Given the description of an element on the screen output the (x, y) to click on. 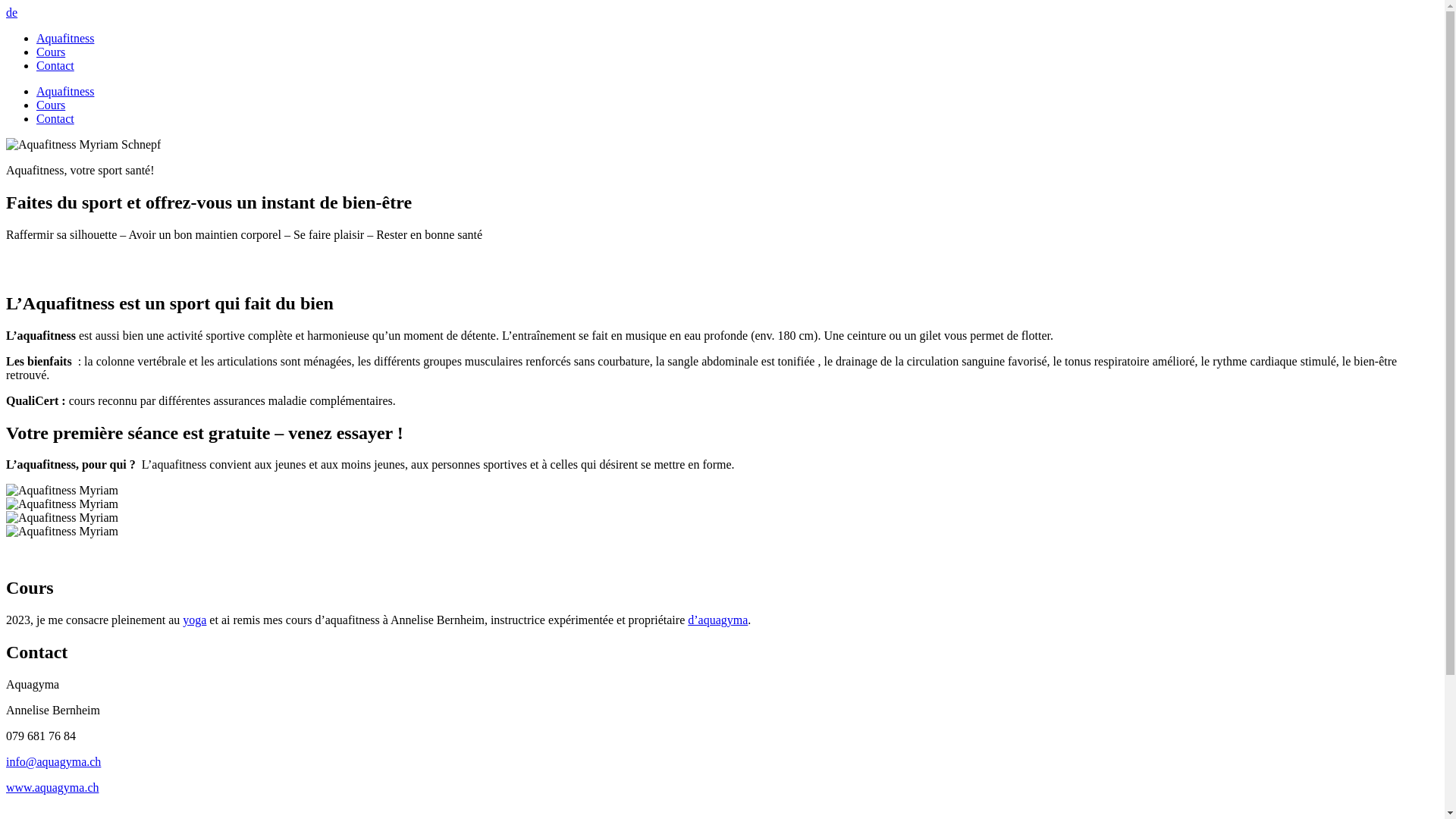
www.aquagyma.ch Element type: text (52, 787)
Contact Element type: text (55, 65)
Aquafitness Myriam Element type: hover (62, 504)
info@aquagyma.ch Element type: text (53, 761)
yoga Element type: text (194, 619)
Aquafitness Myriam Element type: hover (62, 531)
Aquafitness Element type: text (65, 37)
Aquafitness Element type: text (65, 90)
Aquafitness Myriam Element type: hover (62, 517)
Aquafitness Myriam Schnepf Element type: hover (83, 144)
Contact Element type: text (55, 118)
Aquafitness Myriam Element type: hover (62, 490)
Cours Element type: text (50, 51)
Cours Element type: text (50, 104)
de Element type: text (11, 12)
